Given the description of an element on the screen output the (x, y) to click on. 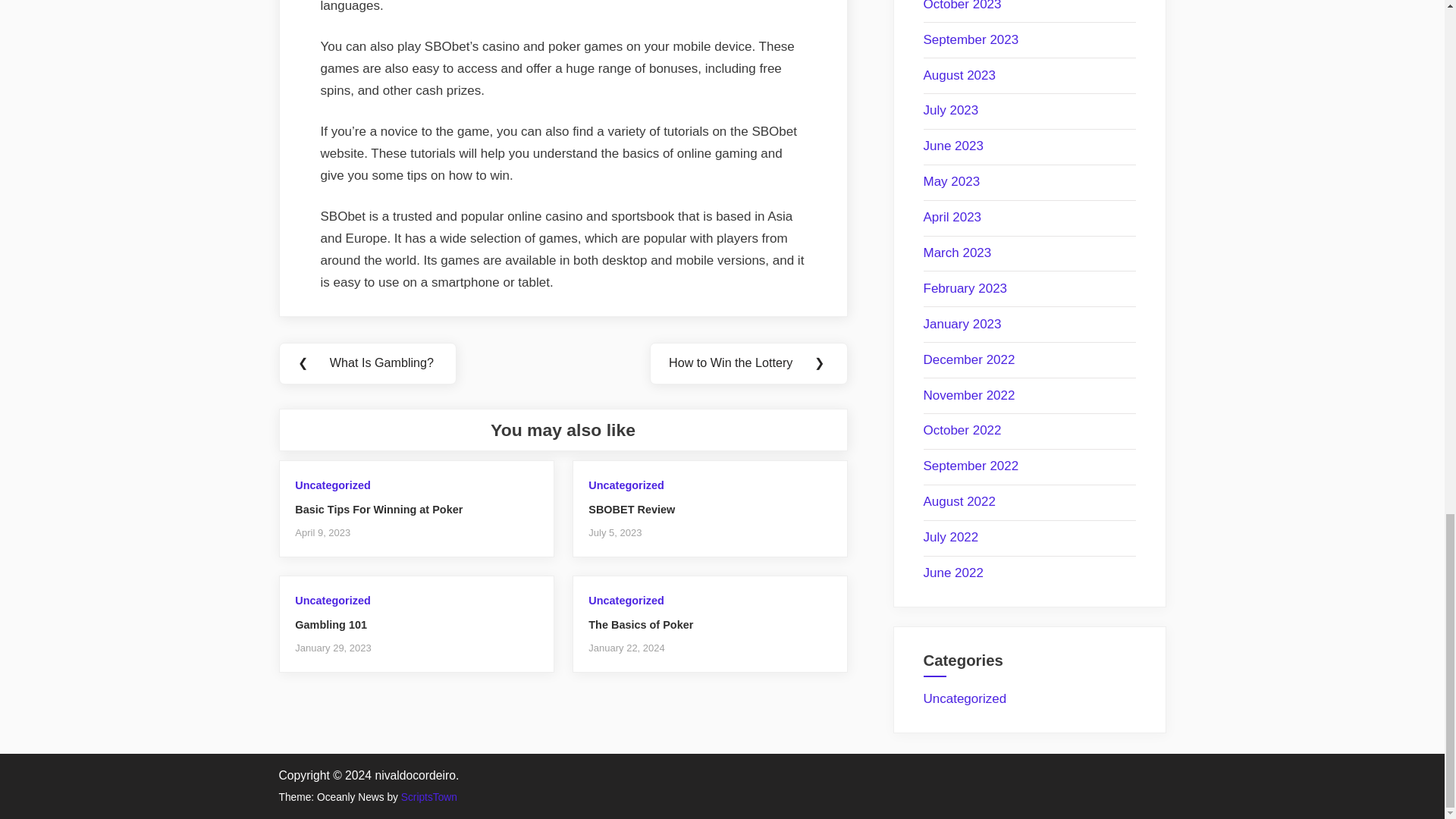
The Basics of Poker (640, 624)
Uncategorized (625, 485)
SBOBET Review (631, 509)
Uncategorized (332, 485)
October 2023 (962, 5)
Basic Tips For Winning at Poker (379, 509)
September 2023 (971, 39)
Uncategorized (625, 600)
Gambling 101 (330, 624)
Uncategorized (332, 600)
